Given the description of an element on the screen output the (x, y) to click on. 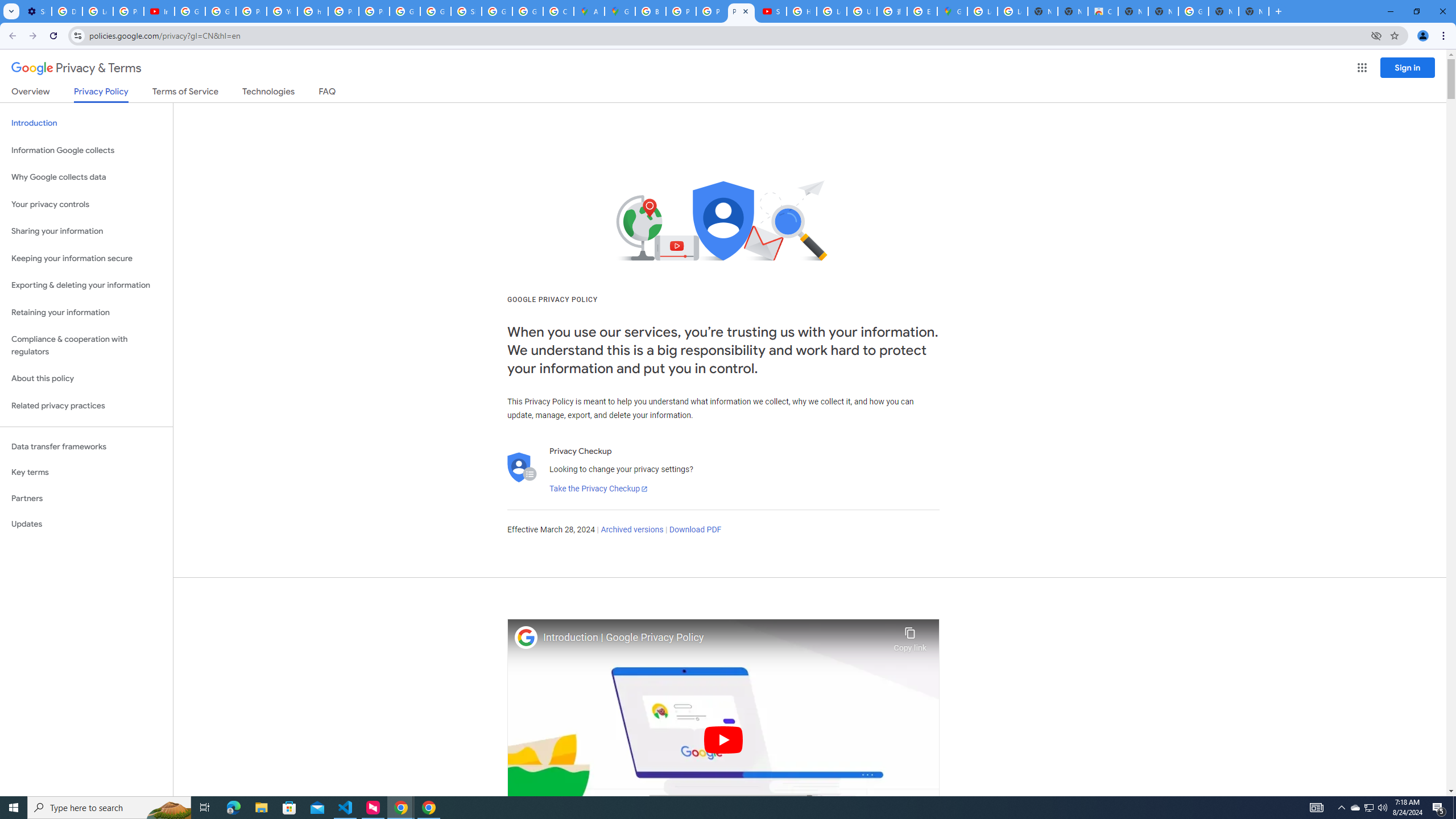
Create your Google Account (558, 11)
Data transfer frameworks (86, 446)
Play (723, 739)
Take the Privacy Checkup (597, 488)
Information Google collects (86, 150)
Learn how to find your photos - Google Photos Help (97, 11)
Google Account Help (220, 11)
Introduction (86, 122)
Partners (86, 497)
